Given the description of an element on the screen output the (x, y) to click on. 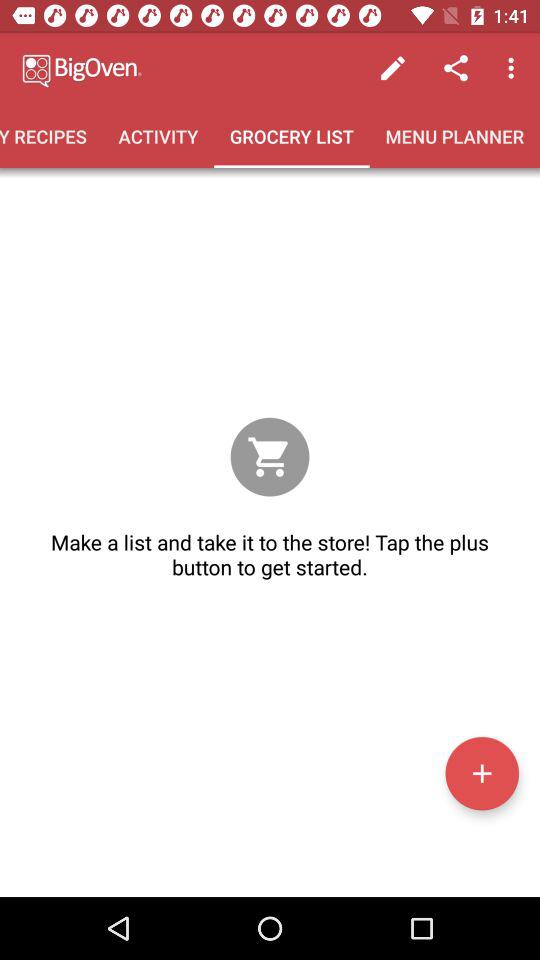
create a list (482, 773)
